Given the description of an element on the screen output the (x, y) to click on. 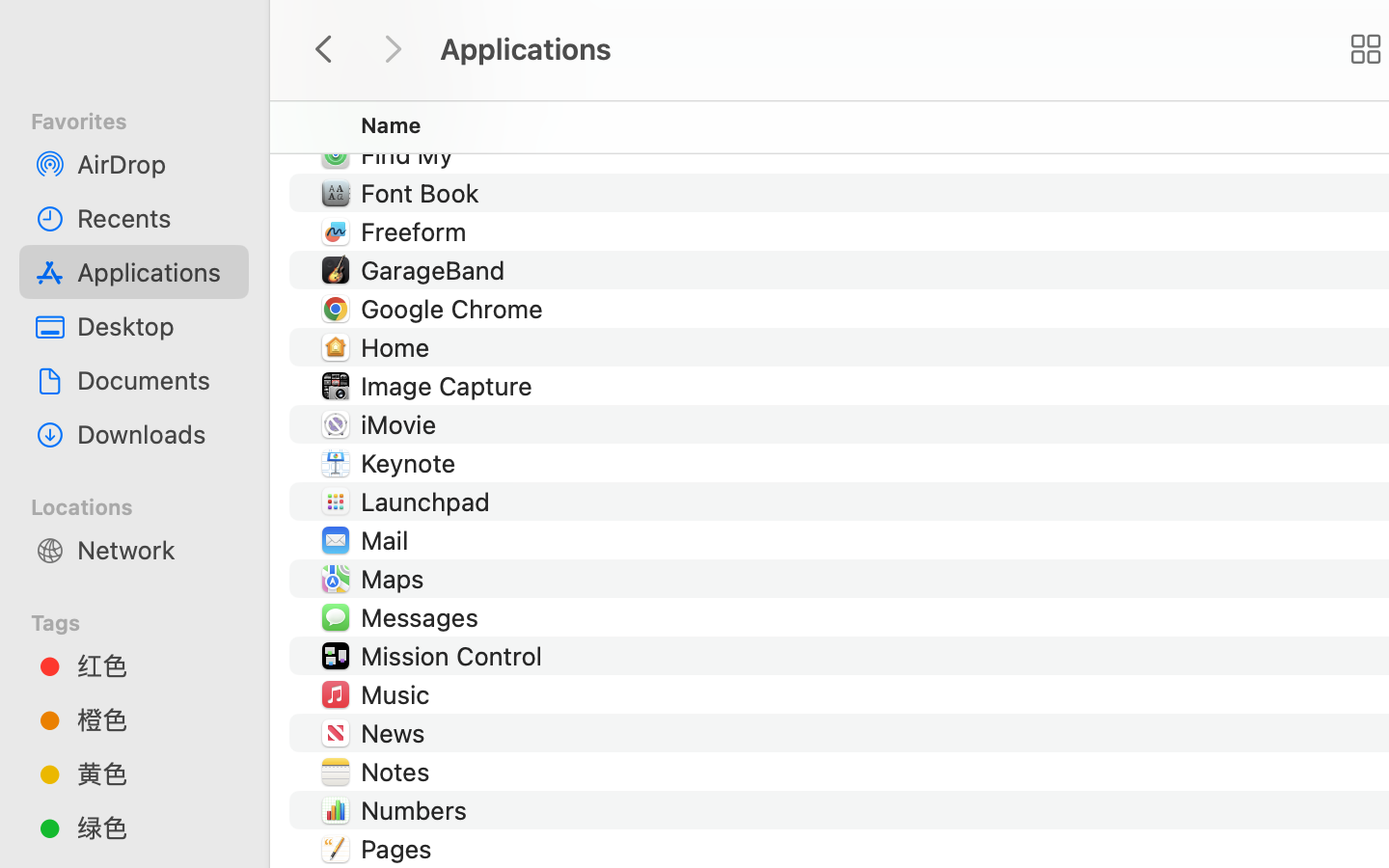
Applications Element type: AXStaticText (155, 271)
Pages Element type: AXTextField (399, 848)
FaceTime Element type: AXTextField (420, 115)
橙色 Element type: AXStaticText (155, 719)
Messages Element type: AXTextField (423, 616)
